Given the description of an element on the screen output the (x, y) to click on. 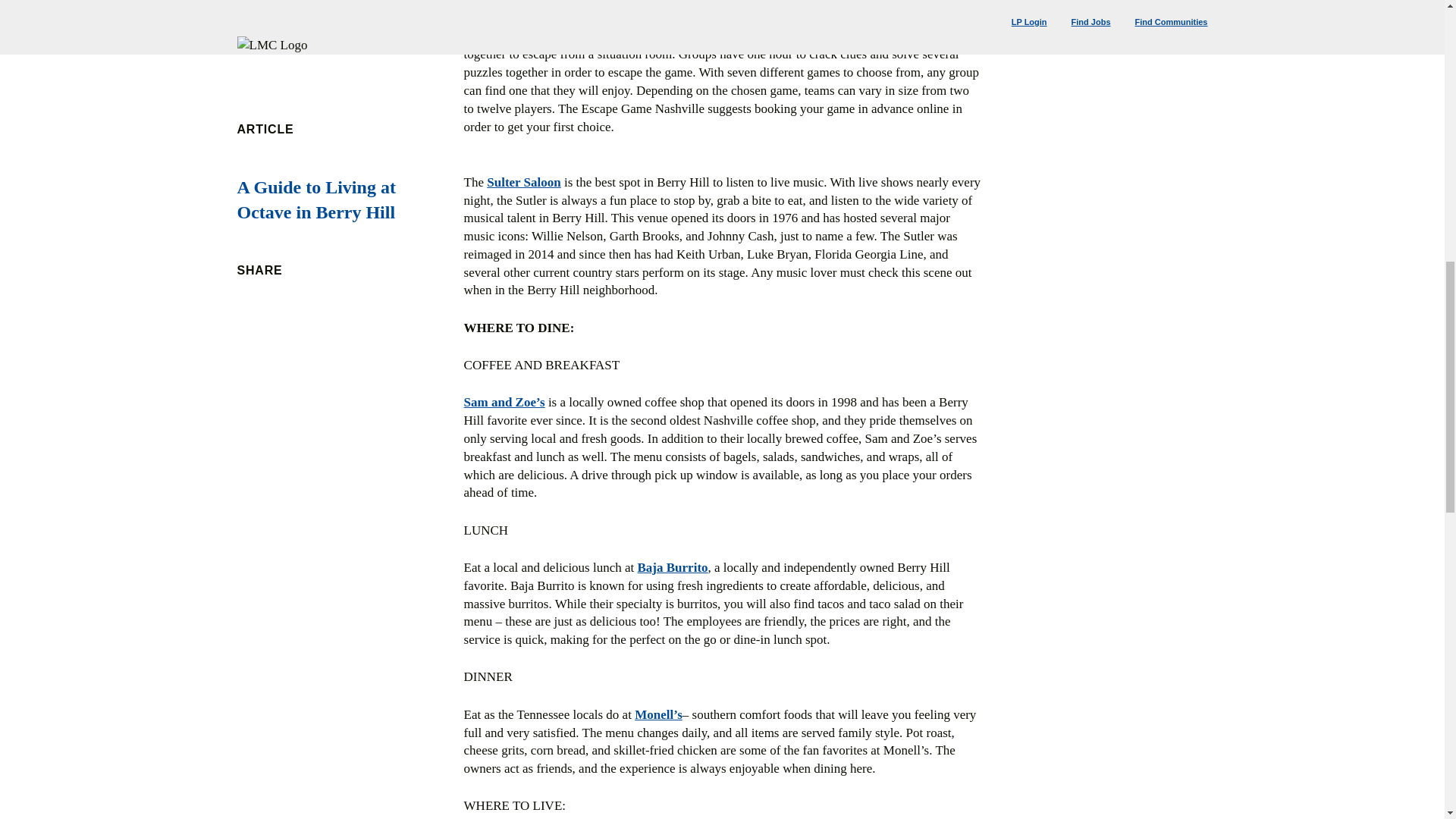
Sulter Saloon (523, 182)
The Escape Game (513, 36)
Baja Burrito (672, 567)
